Given the description of an element on the screen output the (x, y) to click on. 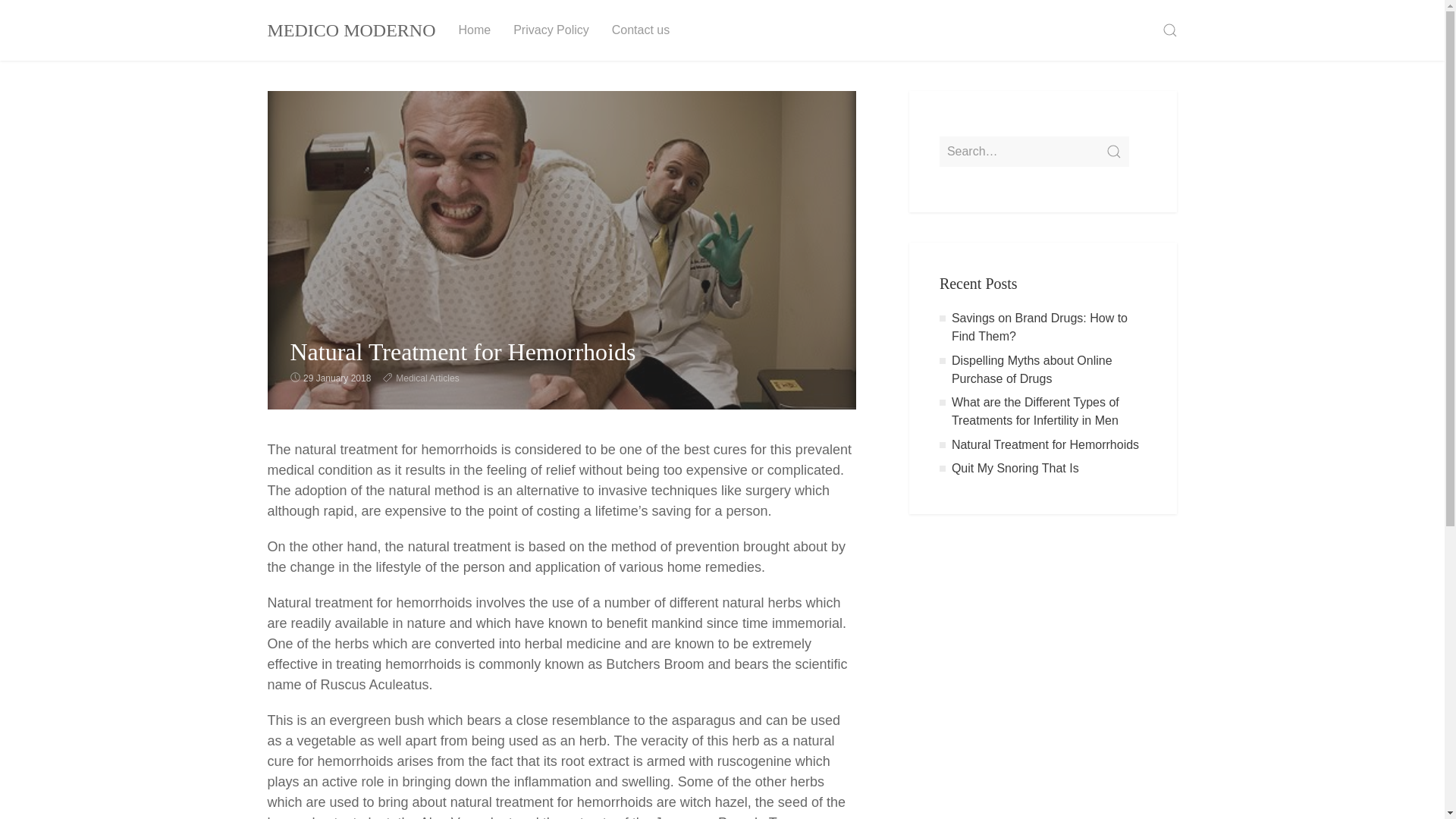
Savings on Brand Drugs: How to Find Them? (1039, 327)
Privacy Policy (550, 30)
SEARCH (1168, 29)
Natural Treatment for Hemorrhoids (1045, 444)
Contact us (640, 30)
Home (474, 30)
Quit My Snoring That Is (1015, 468)
Dispelling Myths about Online Purchase of Drugs (1032, 368)
MEDICO MODERNO (351, 30)
